Given the description of an element on the screen output the (x, y) to click on. 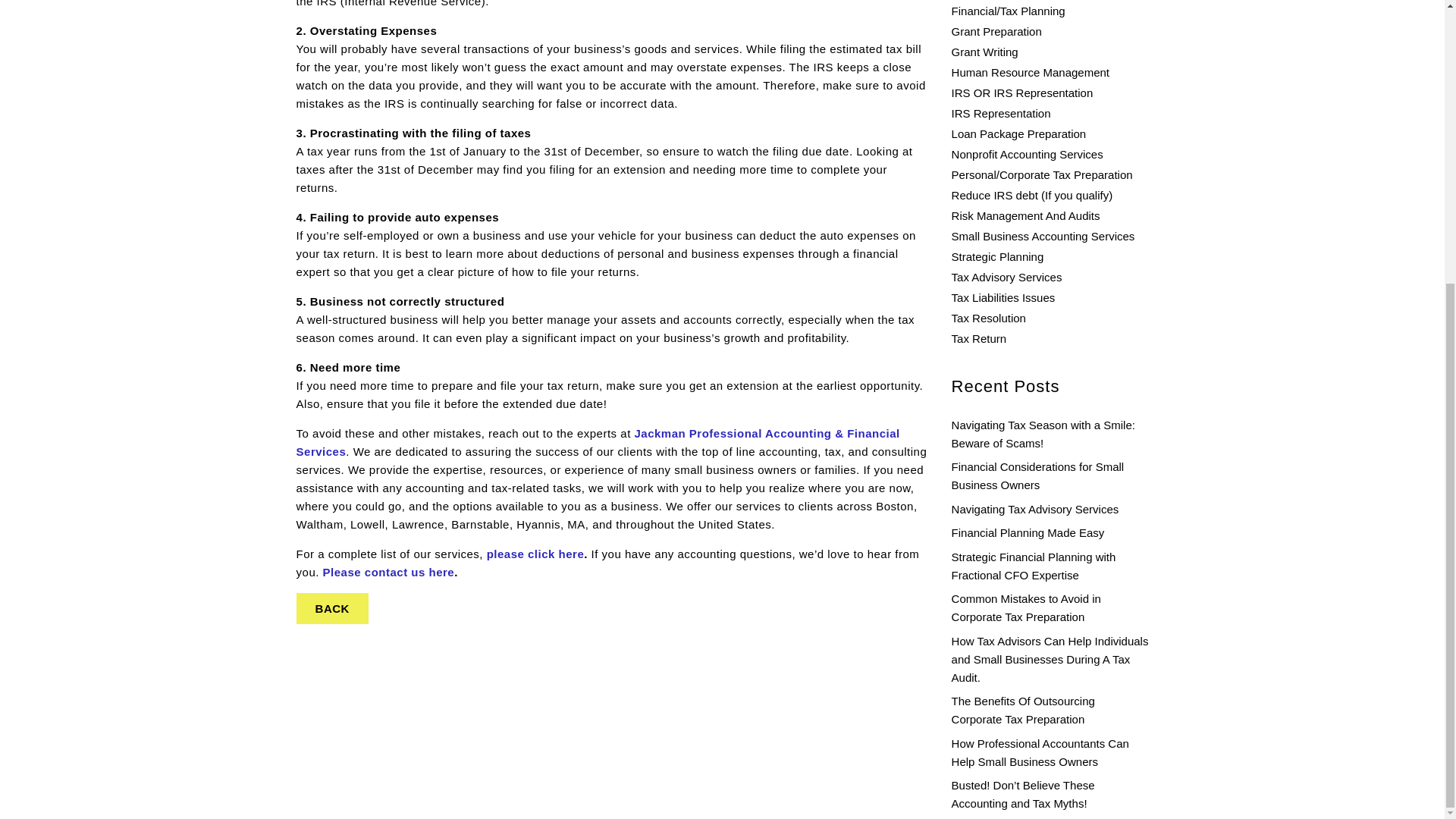
Human Resource Management (1030, 72)
Grant Writing (984, 51)
Please contact us here (388, 571)
BACK (332, 608)
IRS Representation (1001, 113)
please click here (535, 553)
IRS OR IRS Representation (1022, 92)
Grant Preparation (997, 31)
